Given the description of an element on the screen output the (x, y) to click on. 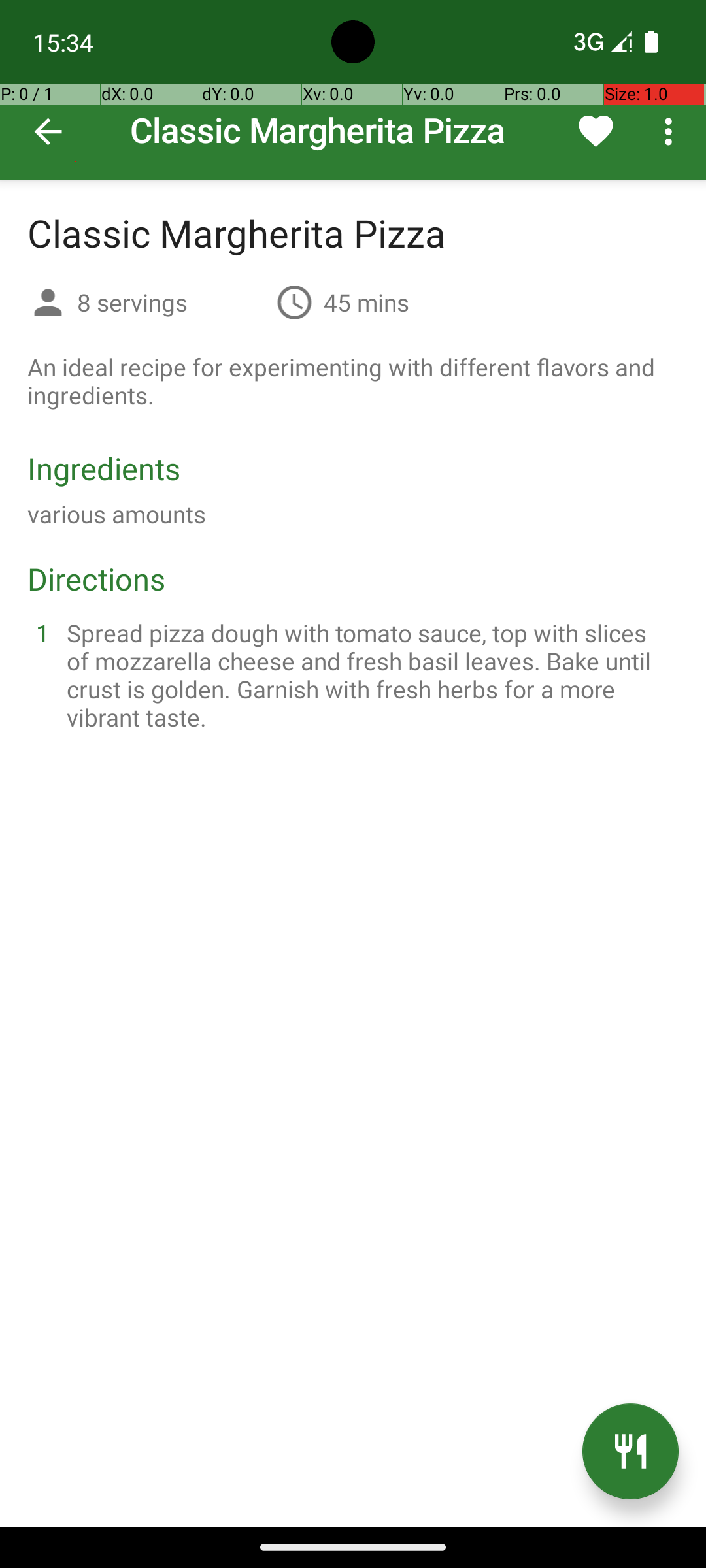
Spread pizza dough with tomato sauce, top with slices of mozzarella cheese and fresh basil leaves. Bake until crust is golden. Garnish with fresh herbs for a more vibrant taste. Element type: android.widget.TextView (368, 674)
